Given the description of an element on the screen output the (x, y) to click on. 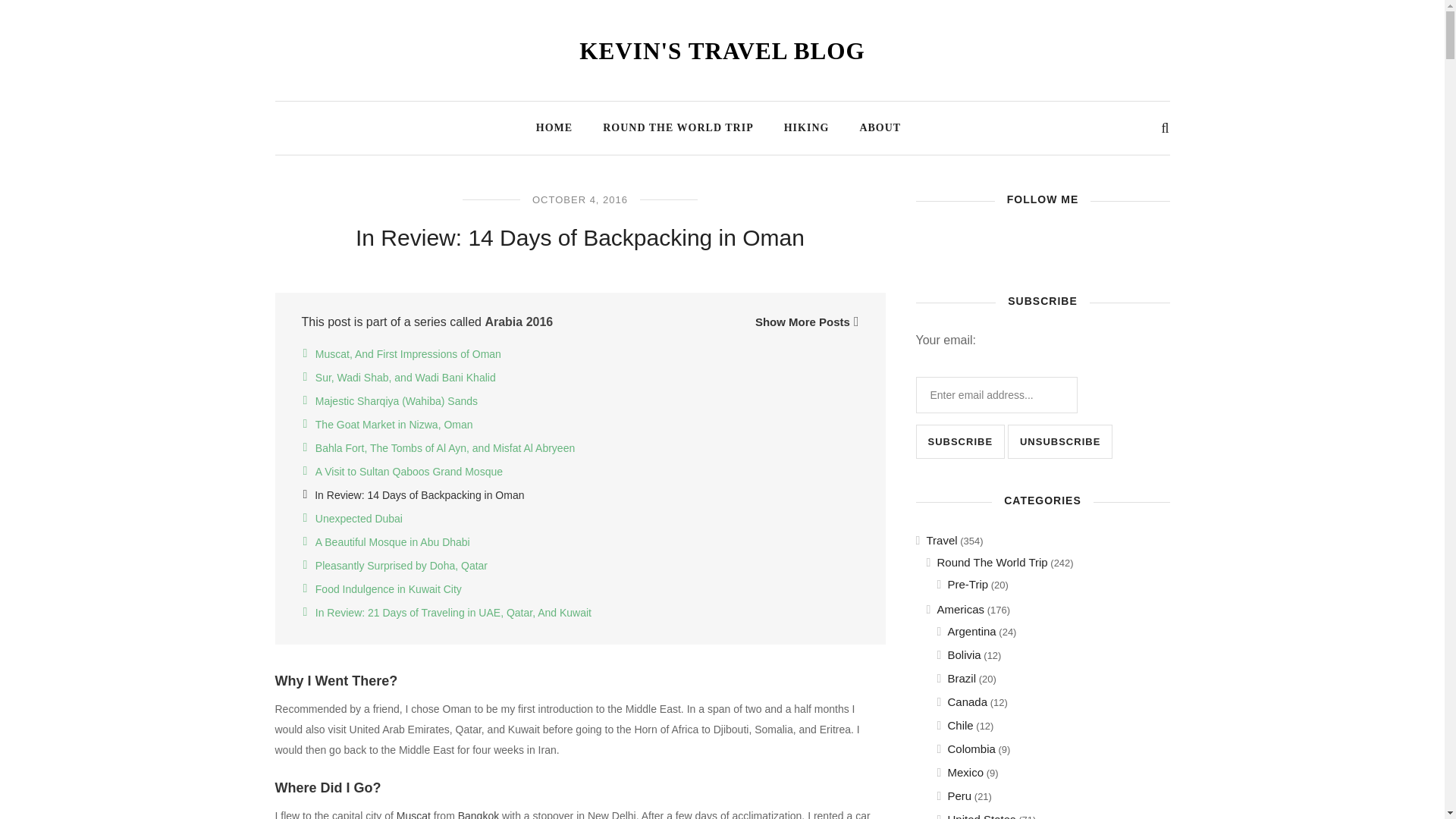
Muscat, And First Impressions of Oman (407, 354)
OCTOBER 4, 2016 (579, 199)
Bahla Fort, The Tombs of Al Ayn, and Misfat Al Abryeen (445, 448)
Enter email address... (996, 394)
Show More Posts (807, 322)
Sur, Wadi Shab, and Wadi Bani Khalid (405, 377)
The Goat Market in Nizwa, Oman (394, 424)
Arabia 2016 (518, 321)
Subscribe (960, 441)
ABOUT (879, 123)
